Given the description of an element on the screen output the (x, y) to click on. 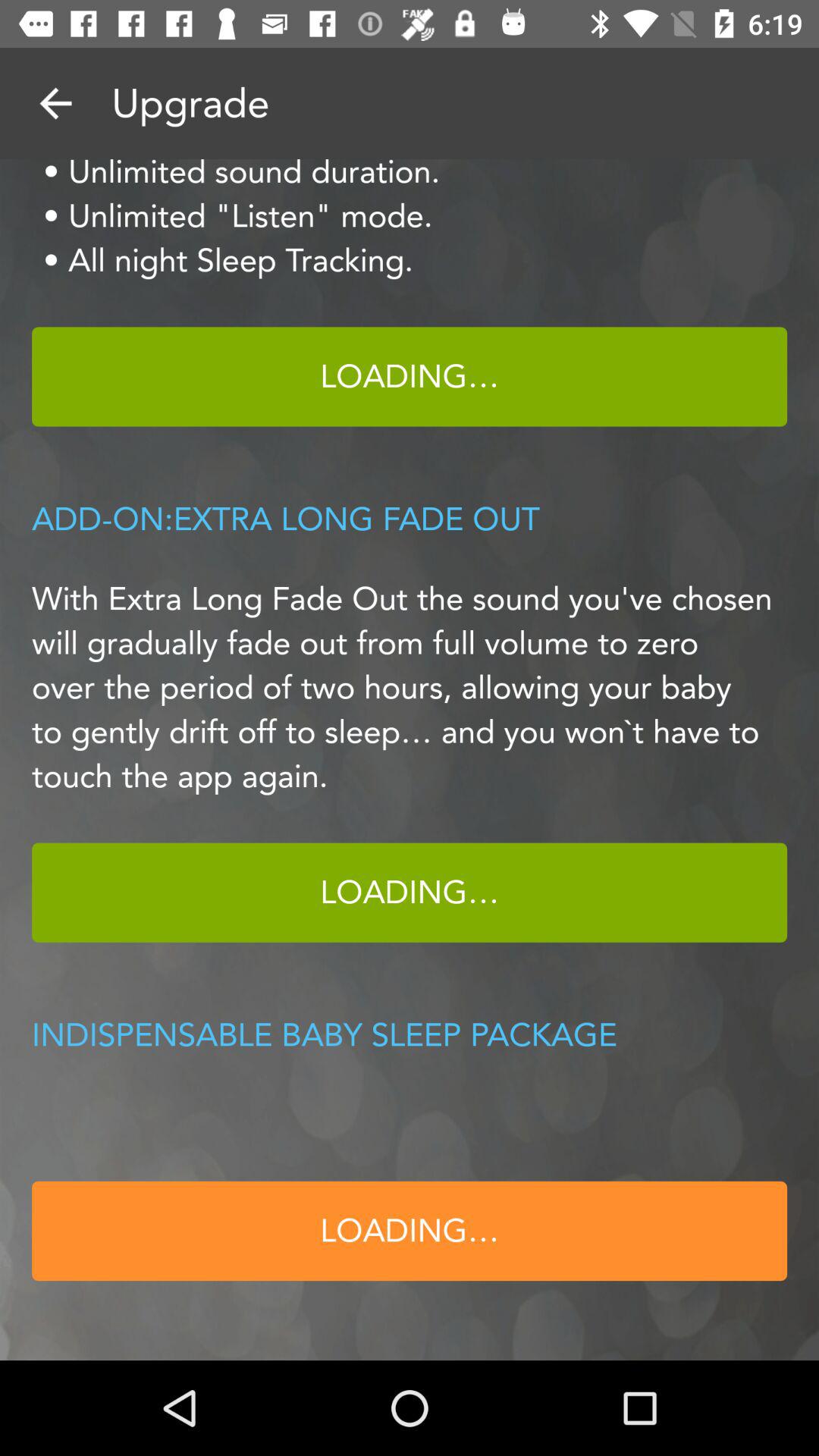
return (55, 103)
